Given the description of an element on the screen output the (x, y) to click on. 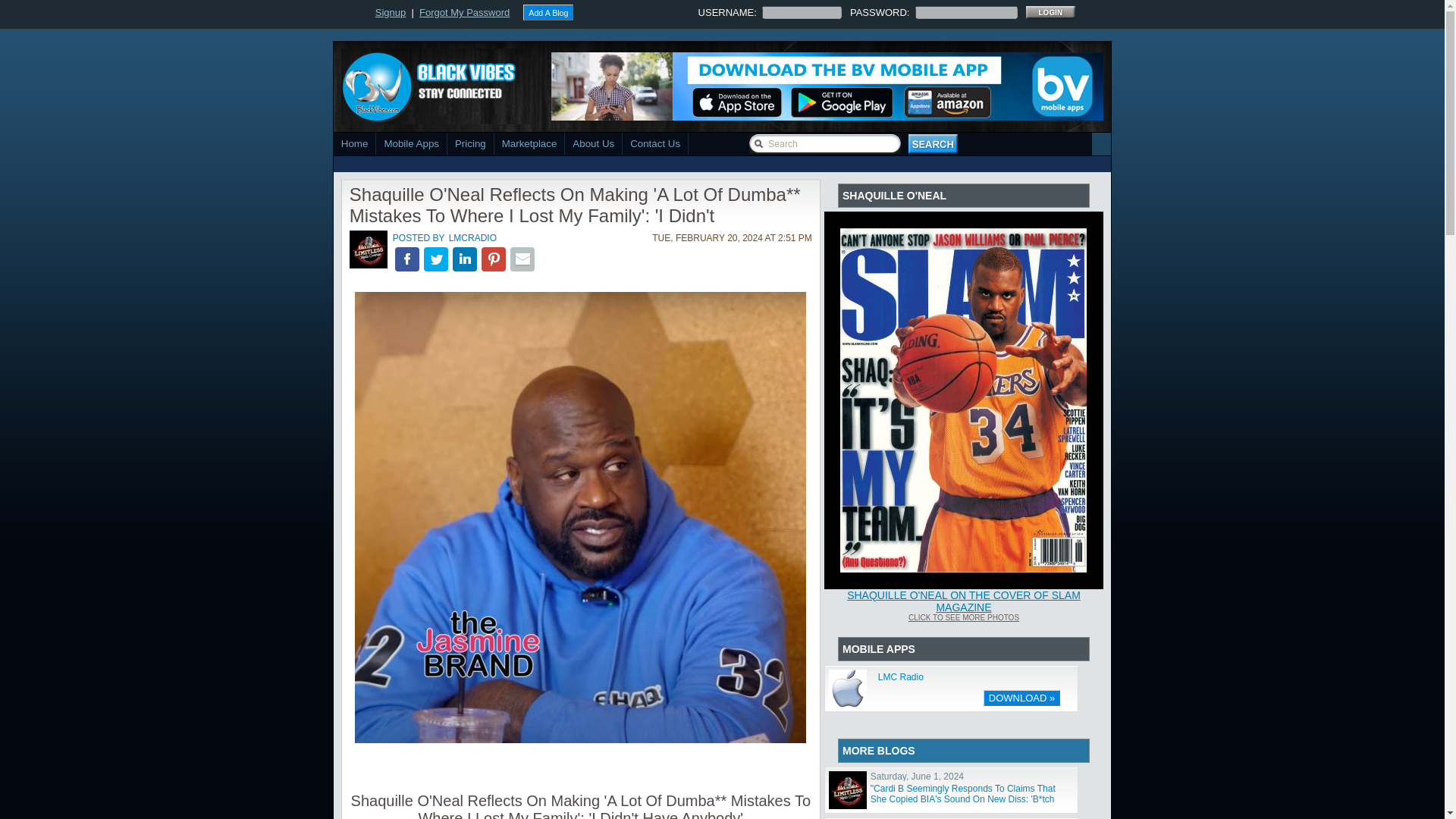
Add A Blog (547, 12)
Contact BlackVibes.com (655, 143)
Add A Blog (547, 12)
About Us (593, 143)
Discover BV Mobile Apps (530, 143)
Pricing (470, 143)
Contact Us (655, 143)
CLICK TO SEE MORE PHOTOS (963, 616)
lmcradio (368, 265)
Signup (390, 12)
SHAQUILLE O'NEAL ON THE COVER OF SLAM MAGAZINE (963, 600)
Mobile Apps (410, 143)
Forgot My Password (464, 12)
lmcradio (368, 249)
LMCRADIO (473, 237)
